Given the description of an element on the screen output the (x, y) to click on. 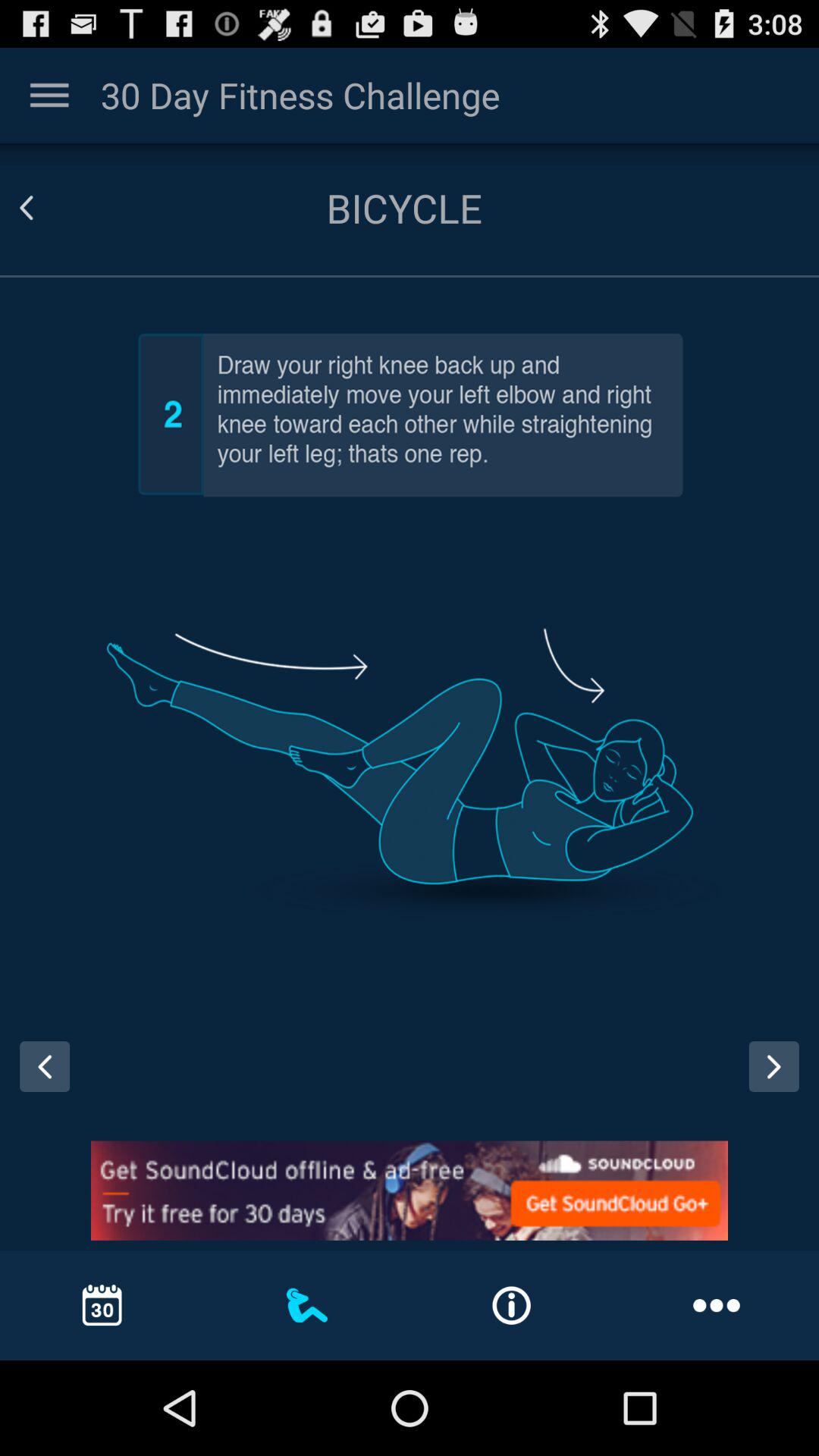
go next (774, 1066)
